Given the description of an element on the screen output the (x, y) to click on. 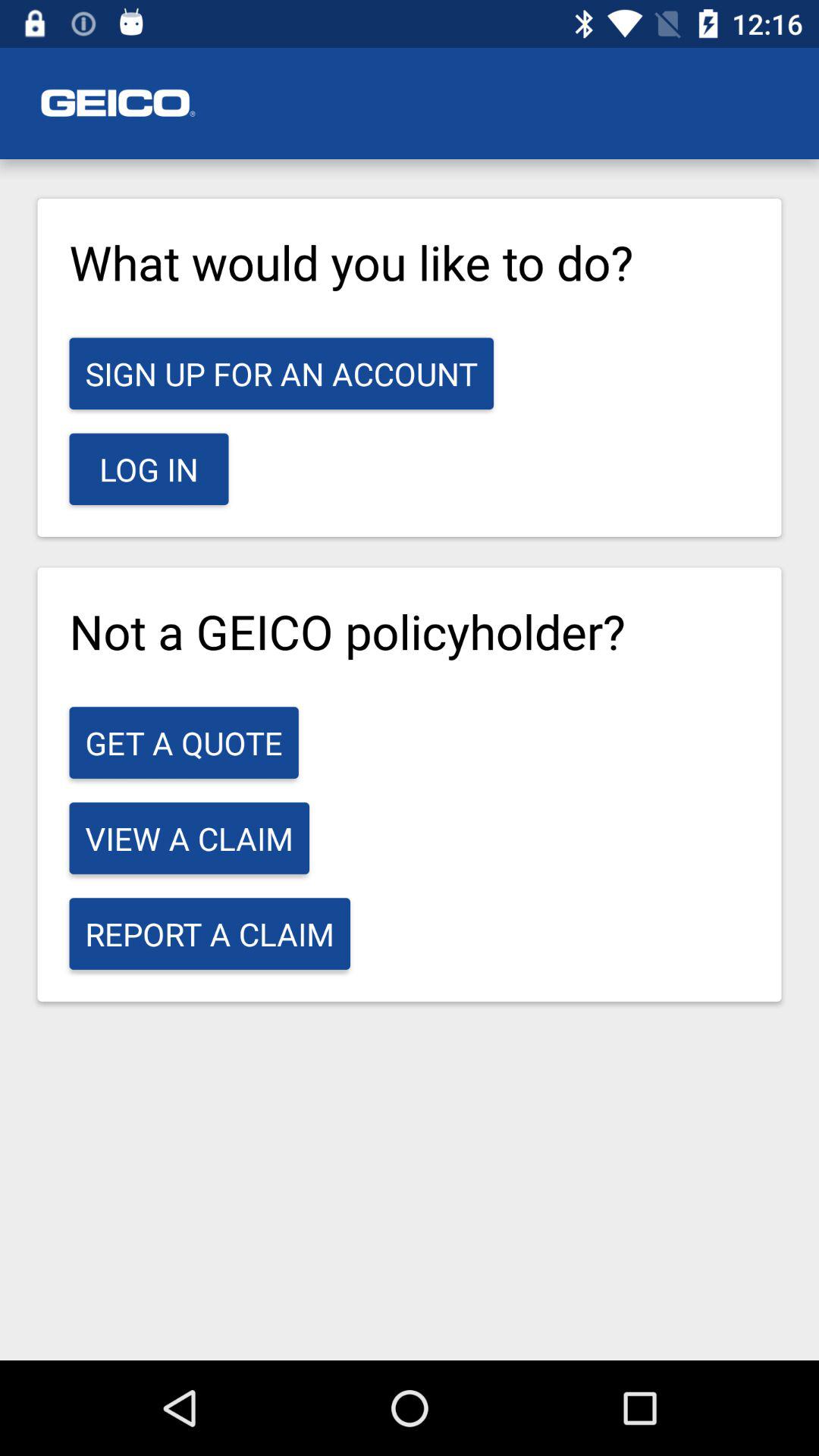
tap the sign up for icon (281, 373)
